Given the description of an element on the screen output the (x, y) to click on. 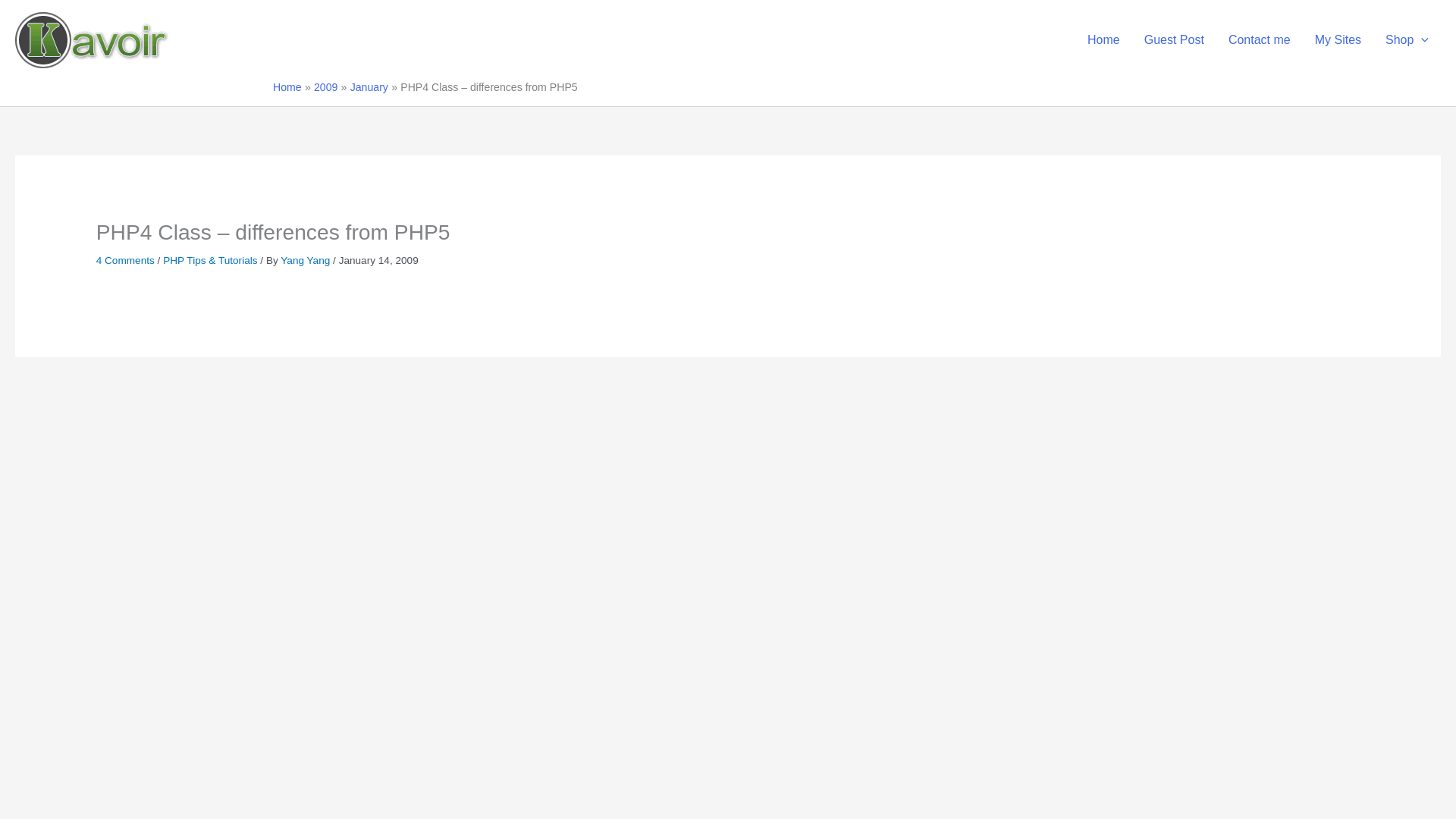
Shop (1407, 39)
Guest Post (1173, 39)
View all posts by Yang Yang (307, 260)
My Sites (1338, 39)
4 Comments (125, 260)
2009 (325, 87)
Home (287, 87)
January (369, 87)
Yang Yang (307, 260)
Contact me (1259, 39)
